Given the description of an element on the screen output the (x, y) to click on. 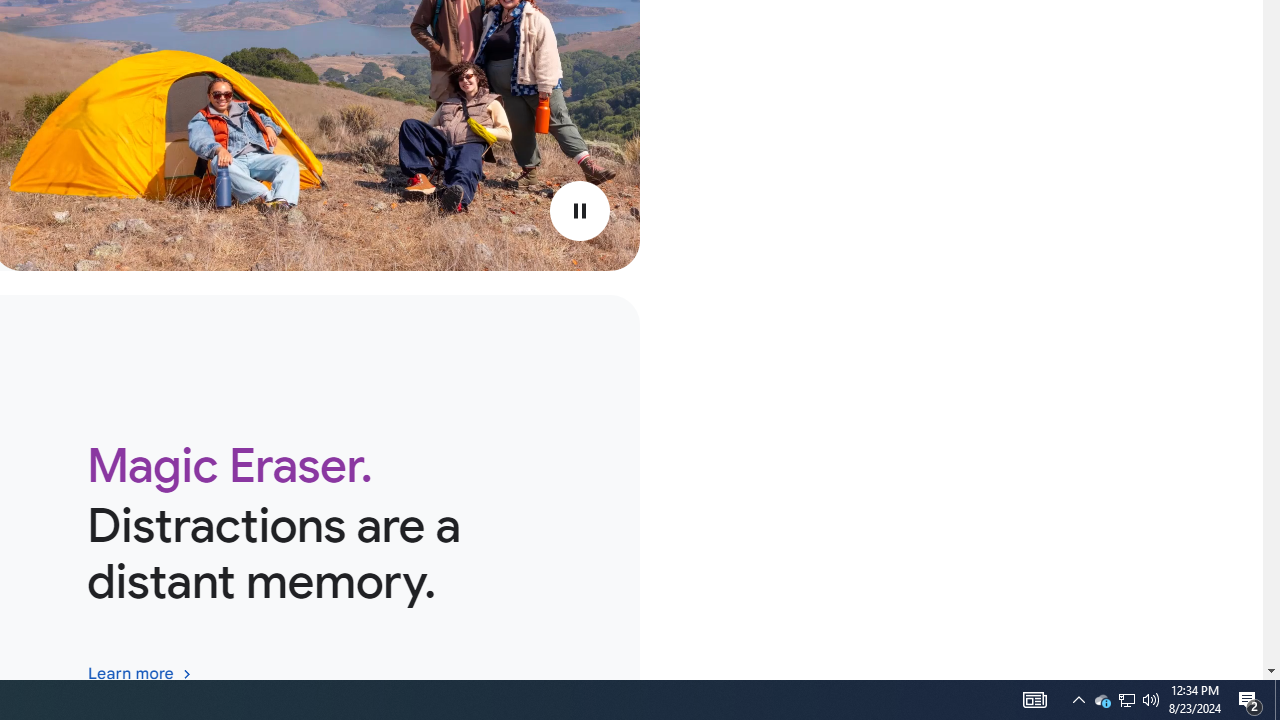
Explore the Magic Eraser feature in Google Photos (139, 672)
Play video (579, 210)
